Given the description of an element on the screen output the (x, y) to click on. 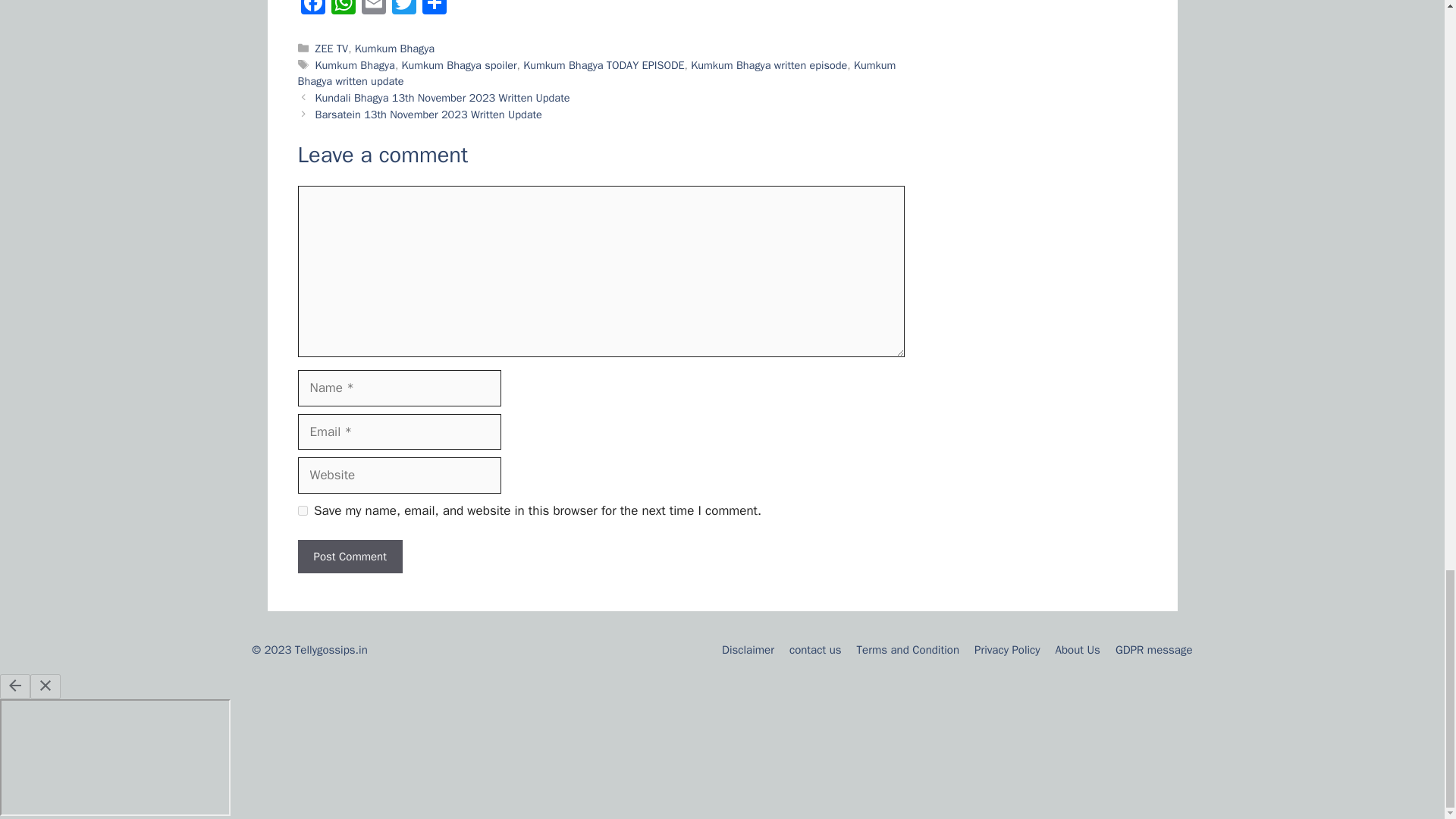
Email (373, 9)
WhatsApp (342, 9)
Twitter (403, 9)
Facebook (312, 9)
Post Comment (349, 556)
yes (302, 510)
